Given the description of an element on the screen output the (x, y) to click on. 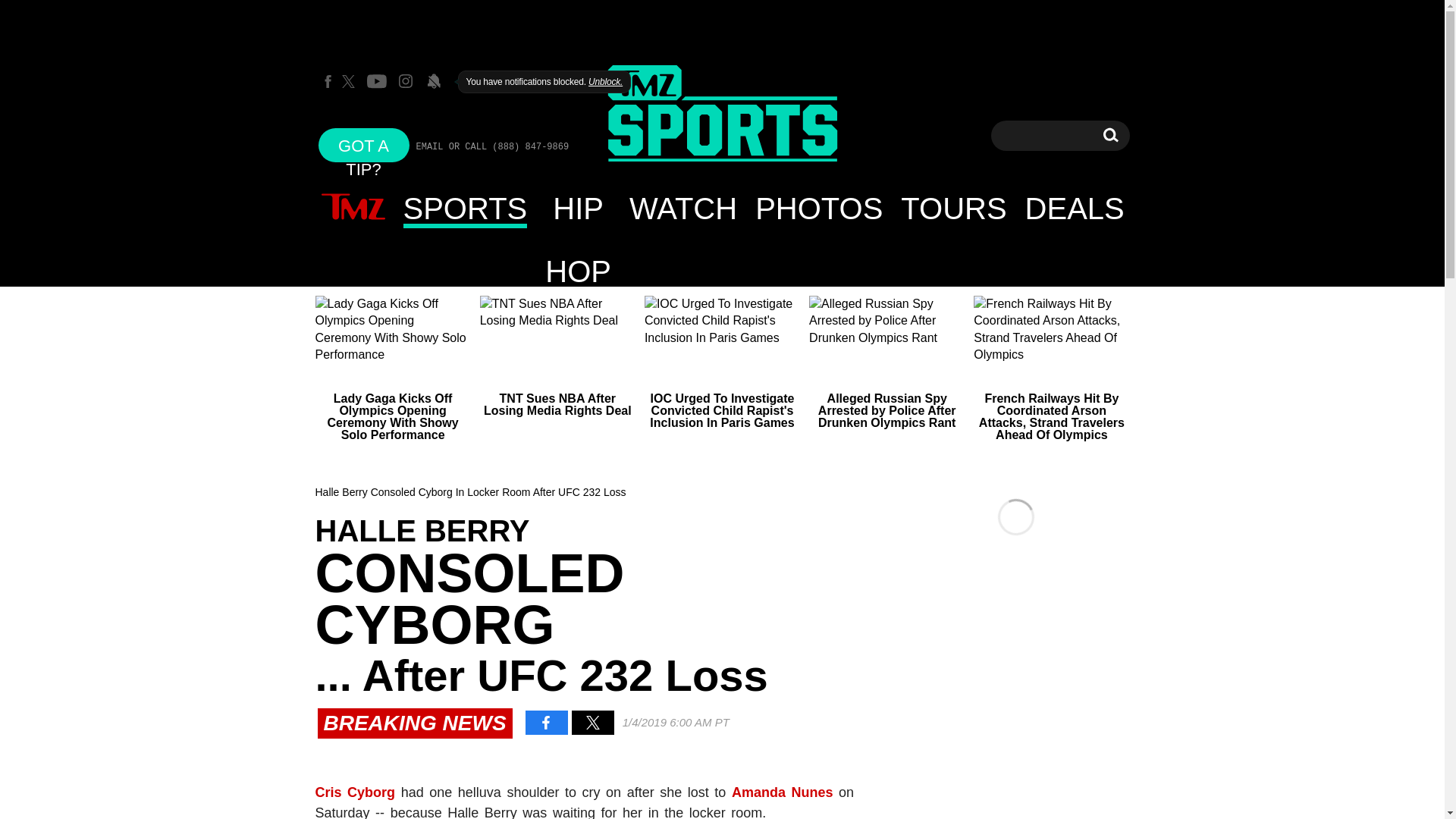
SPORTS (465, 207)
TMZ Sports (722, 115)
TMZ Sports (722, 113)
PHOTOS (818, 207)
NEWS (353, 207)
HIP HOP (577, 207)
WATCH (682, 207)
Search (1110, 134)
GOT A TIP? (363, 144)
TOURS (1110, 135)
DEALS (952, 207)
